Given the description of an element on the screen output the (x, y) to click on. 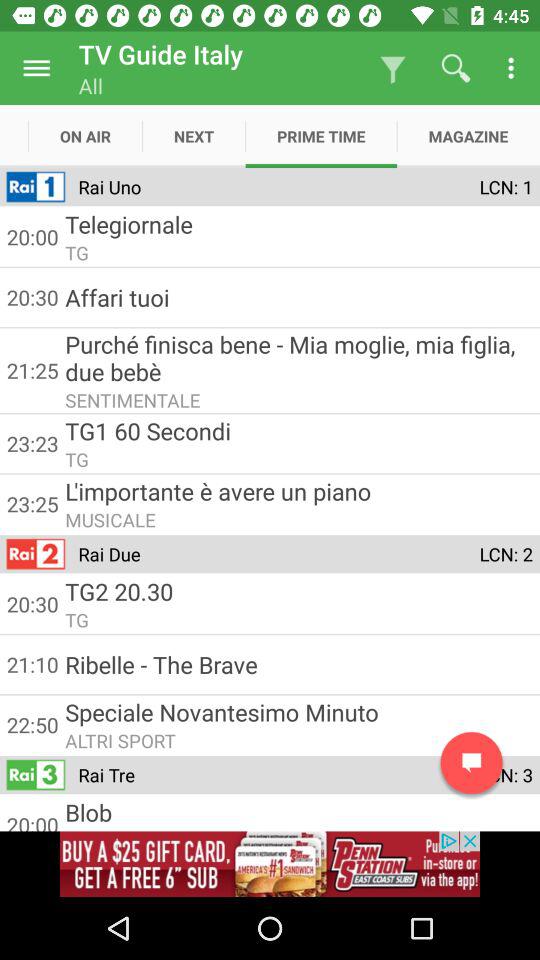
open advertisement (270, 864)
